Given the description of an element on the screen output the (x, y) to click on. 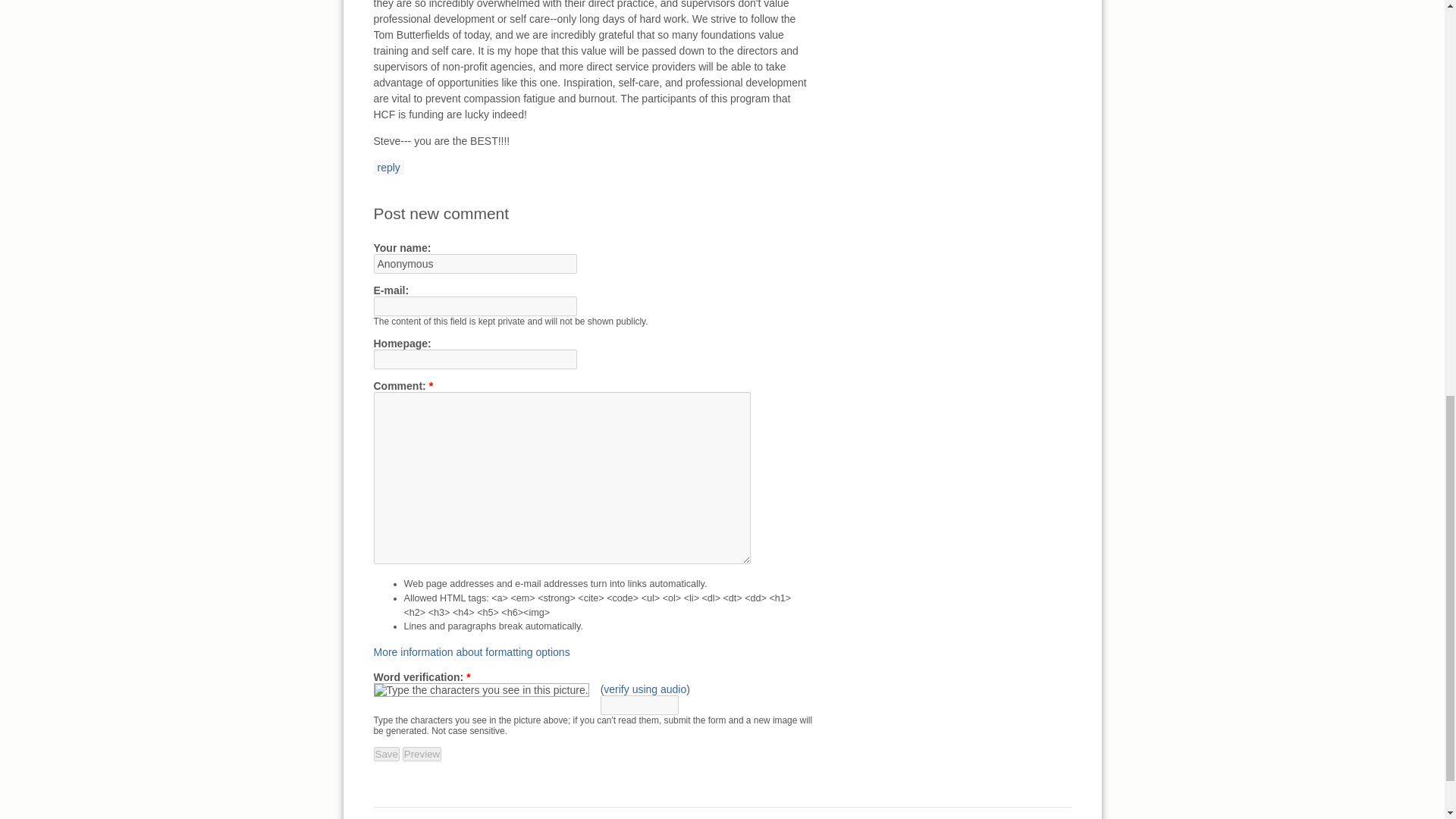
Preview (422, 753)
Save (385, 753)
Anonymous (474, 263)
